Given the description of an element on the screen output the (x, y) to click on. 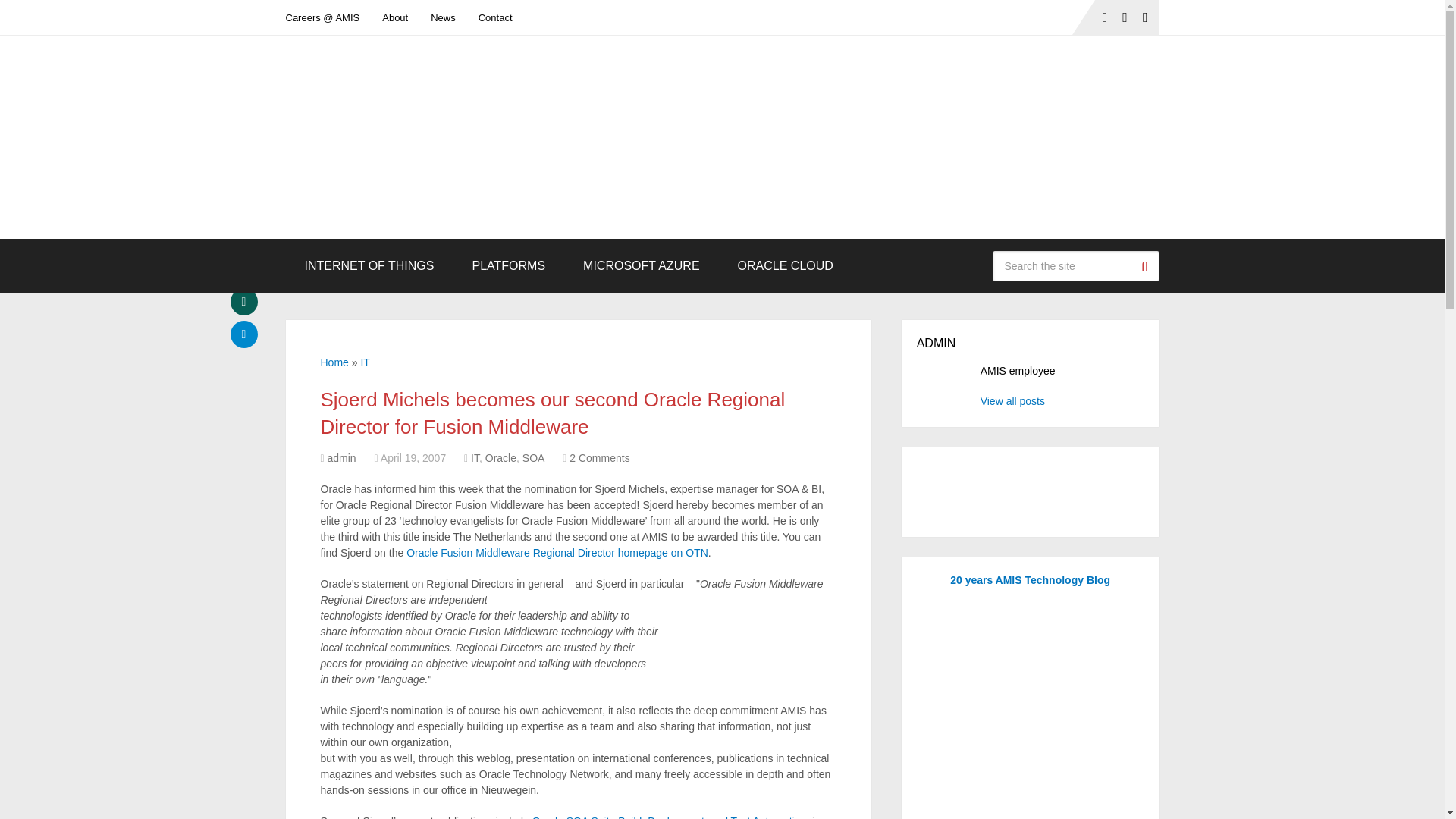
MICROSOFT AZURE (641, 266)
View all posts in SOA (533, 458)
Contact (495, 17)
blog-link (443, 17)
View all posts in Oracle (500, 458)
Oracle (500, 458)
Posts by admin (341, 458)
News (443, 17)
INTERNET OF THINGS (368, 266)
About (395, 17)
Oracle SOA Suite Build, Deployment, and Test Automation (669, 816)
PLATFORMS (508, 266)
Home (333, 362)
